Given the description of an element on the screen output the (x, y) to click on. 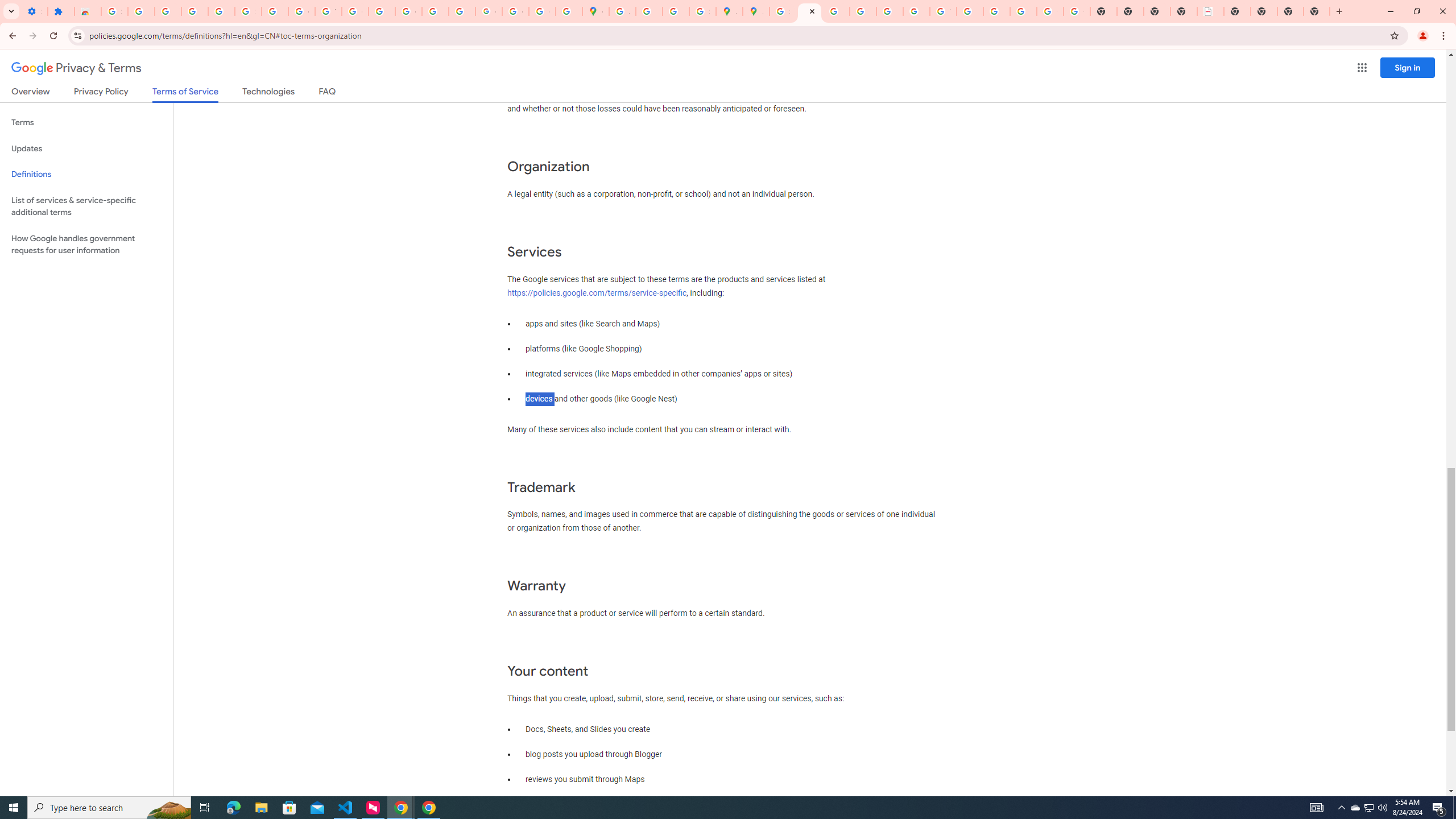
https://policies.google.com/terms/service-specific (596, 292)
New Tab (1290, 11)
Google Account (301, 11)
